Given the description of an element on the screen output the (x, y) to click on. 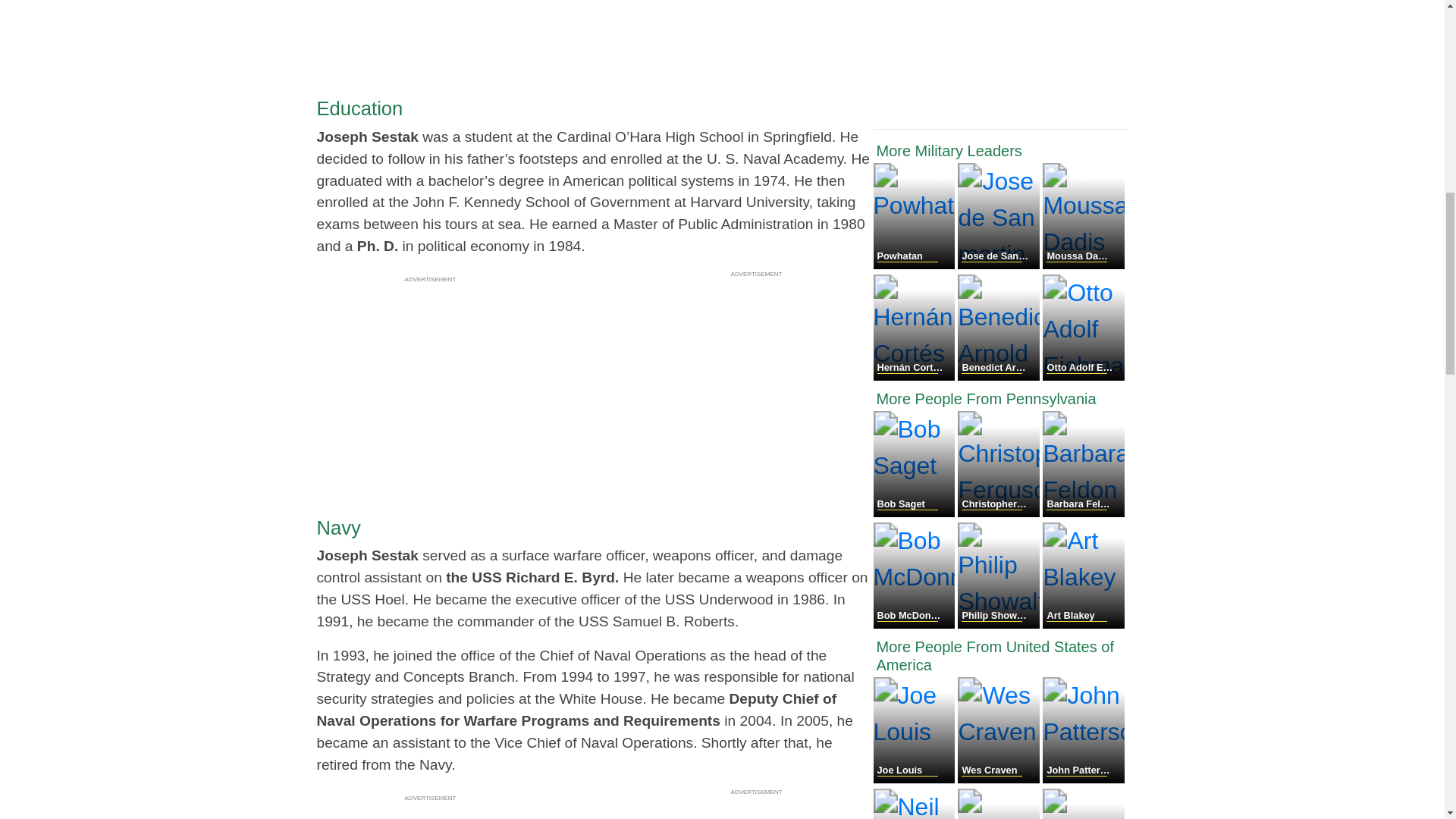
Wes Craven (1000, 779)
Bob McDonnell (915, 624)
Philip Showalter Hench (1000, 624)
Jose de San martin (1000, 264)
More Military Leaders (1000, 150)
Christopher Ferguson (1000, 512)
Otto Adolf Eichmann (1083, 376)
Bob Saget (915, 512)
More People From Pennsylvania (1000, 398)
Moussa Dadis Camara (1083, 264)
John Patterson (1083, 779)
Art Blakey (1083, 624)
Benedict Arnold (1000, 376)
Powhatan (915, 264)
Barbara Feldon (1083, 512)
